Given the description of an element on the screen output the (x, y) to click on. 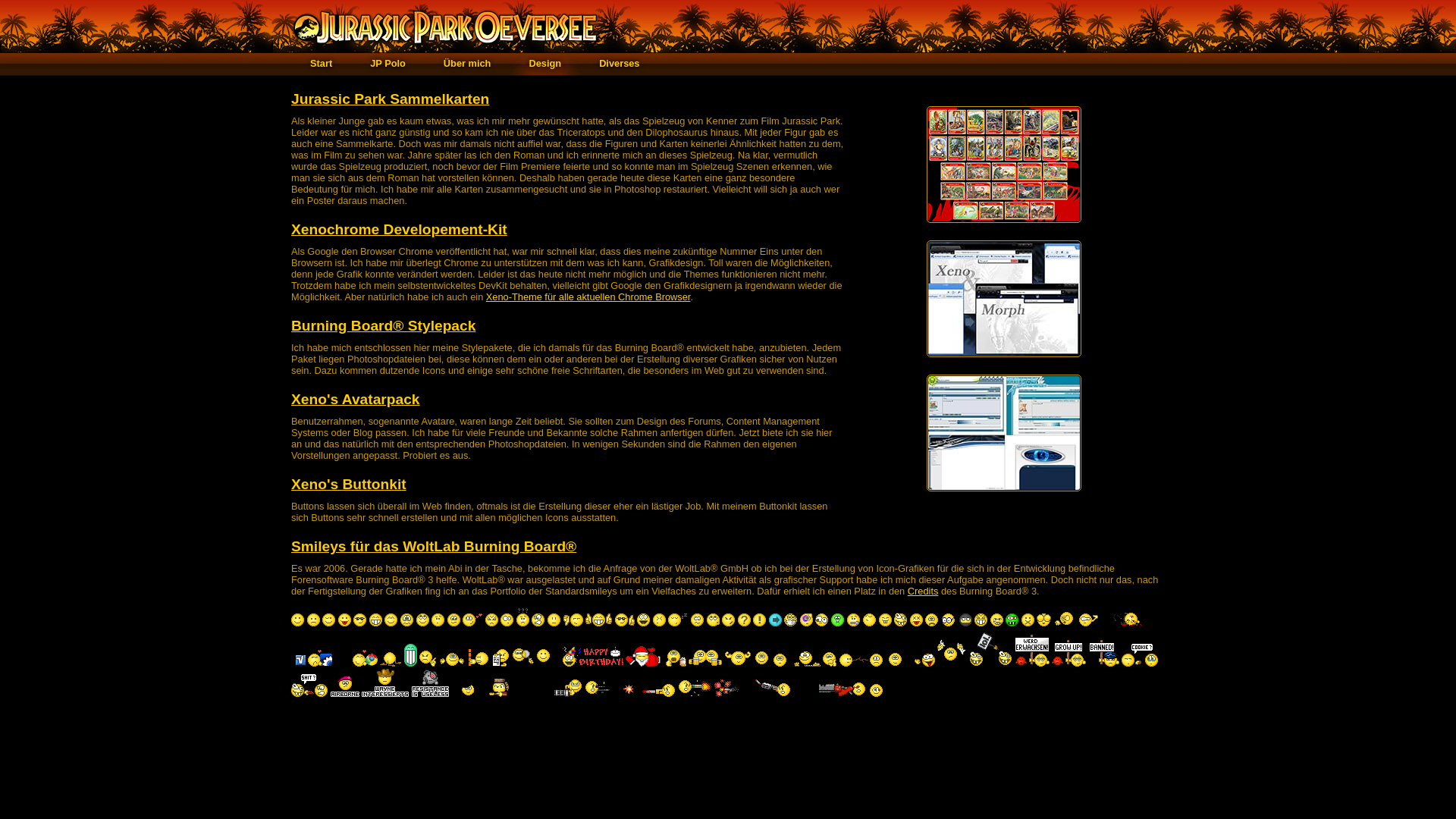
Xenochrome Developement-Kit Element type: text (399, 229)
Jurassic Park Karten Element type: hover (1003, 226)
JP Polo Element type: text (378, 64)
Start Element type: text (311, 64)
Xeno's Buttonkit Element type: text (348, 484)
Diverses Element type: text (609, 64)
Credits Element type: text (922, 590)
Xeno's Avatarpack Element type: text (355, 399)
Stylepack Demo Element type: hover (1003, 495)
Jurassic Park Sammelkarten Element type: text (390, 98)
Xenochrome Demo Element type: hover (1003, 361)
